Given the description of an element on the screen output the (x, y) to click on. 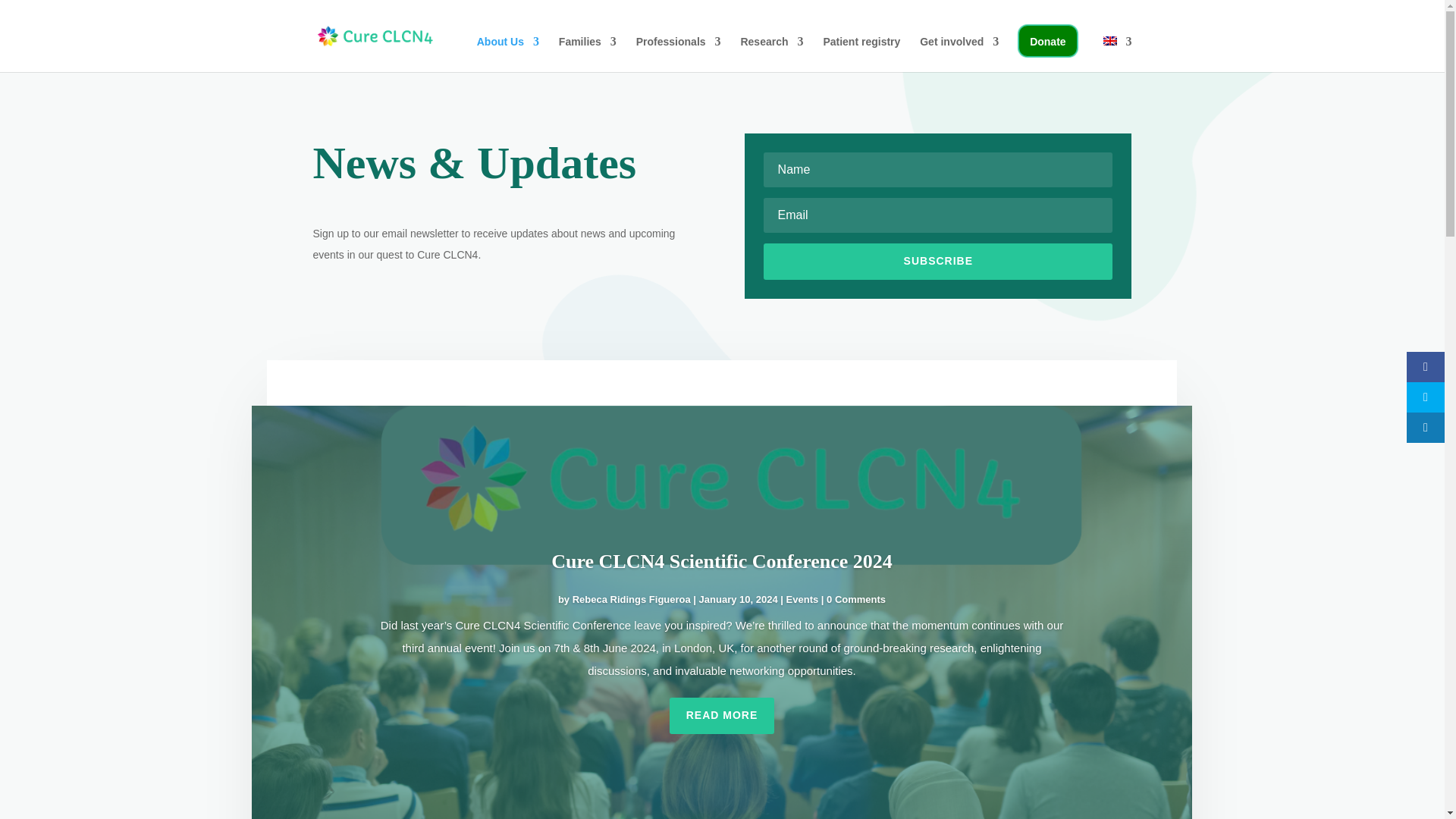
Posts by Rebeca Ridings Figueroa (631, 599)
About Us (507, 54)
Research (771, 54)
Patient registry (860, 54)
Get involved (959, 54)
Donate (1047, 41)
Professionals (678, 54)
Families (587, 54)
